Given the description of an element on the screen output the (x, y) to click on. 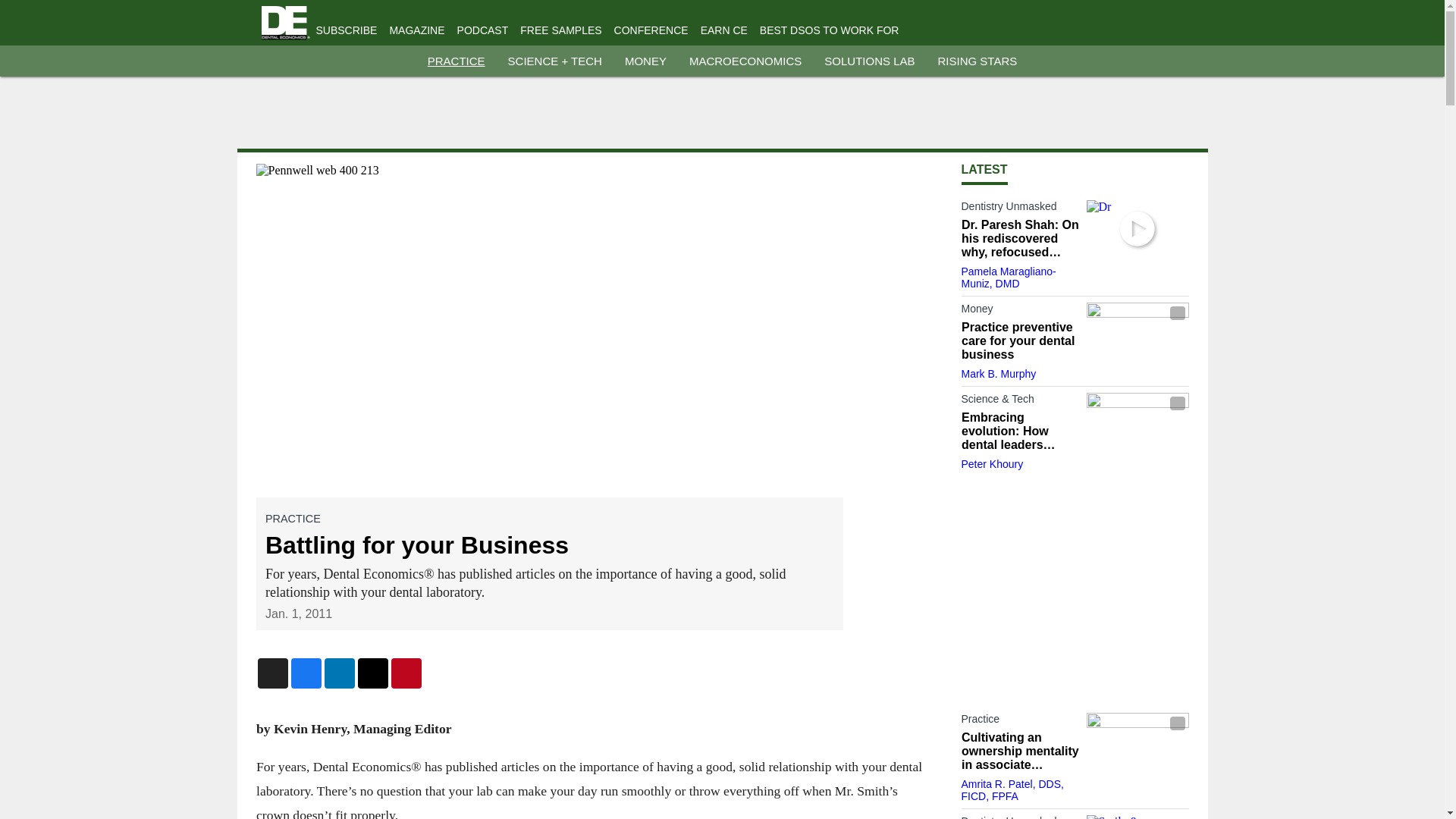
PRACTICE (456, 60)
RISING STARS (976, 60)
MACROECONOMICS (745, 60)
MAGAZINE (416, 30)
Pamela Maragliano-Muniz, DMD (1008, 277)
SUBSCRIBE (346, 30)
MONEY (645, 60)
PODCAST (482, 30)
EARN CE (724, 30)
SOLUTIONS LAB (869, 60)
PRACTICE (292, 518)
Dentistry Unmasked (1019, 208)
Money (1019, 311)
FREE SAMPLES (560, 30)
Practice preventive care for your dental business (1019, 341)
